Given the description of an element on the screen output the (x, y) to click on. 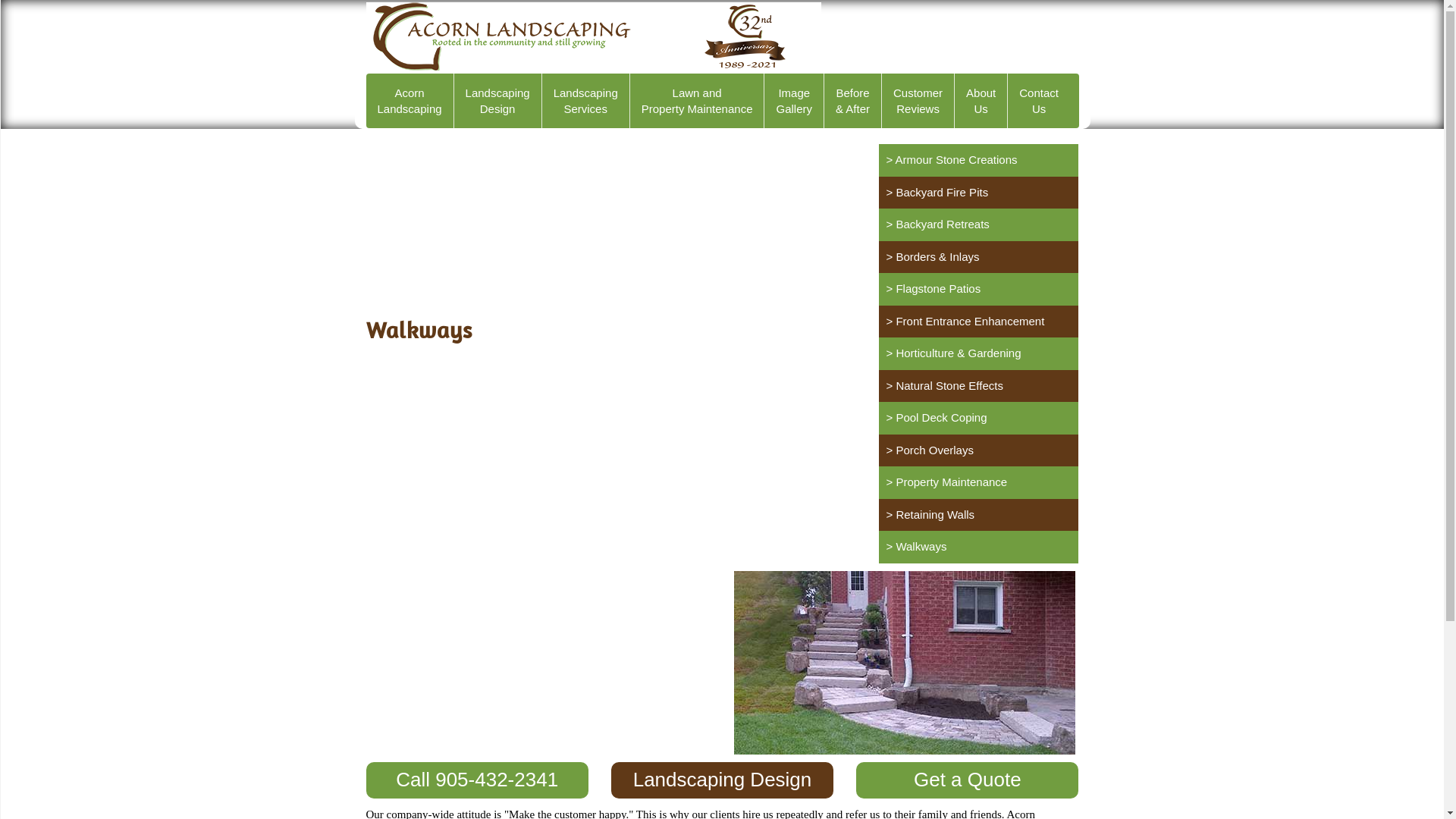
Before
& After Element type: text (852, 100)
> Property Maintenance Element type: text (978, 482)
> Pool Deck Coping Element type: text (978, 417)
Lawn and
Property Maintenance Element type: text (697, 100)
> Porch Overlays Element type: text (978, 449)
Contact
Us Element type: text (1038, 100)
> Backyard Retreats Element type: text (978, 224)
> Borders & Inlays Element type: text (978, 257)
> Horticulture & Gardening Element type: text (978, 353)
About
Us Element type: text (980, 100)
> Backyard Fire Pits Element type: text (978, 191)
Call 905-432-2341 Element type: text (476, 779)
Get a Quote Element type: text (967, 779)
Acorn
Landscaping Element type: text (409, 100)
> Armour Stone Creations Element type: text (978, 160)
> Retaining Walls Element type: text (978, 514)
Landscaping Design Element type: text (722, 779)
Landscaping
Services Element type: text (586, 100)
Landscaping
Design Element type: text (498, 100)
> Walkways Element type: text (978, 546)
> Flagstone Patios Element type: text (978, 289)
> Front Entrance Enhancement Element type: text (978, 320)
> Natural Stone Effects Element type: text (978, 386)
Customer
Reviews Element type: text (917, 100)
Image
Gallery Element type: text (794, 100)
